Given the description of an element on the screen output the (x, y) to click on. 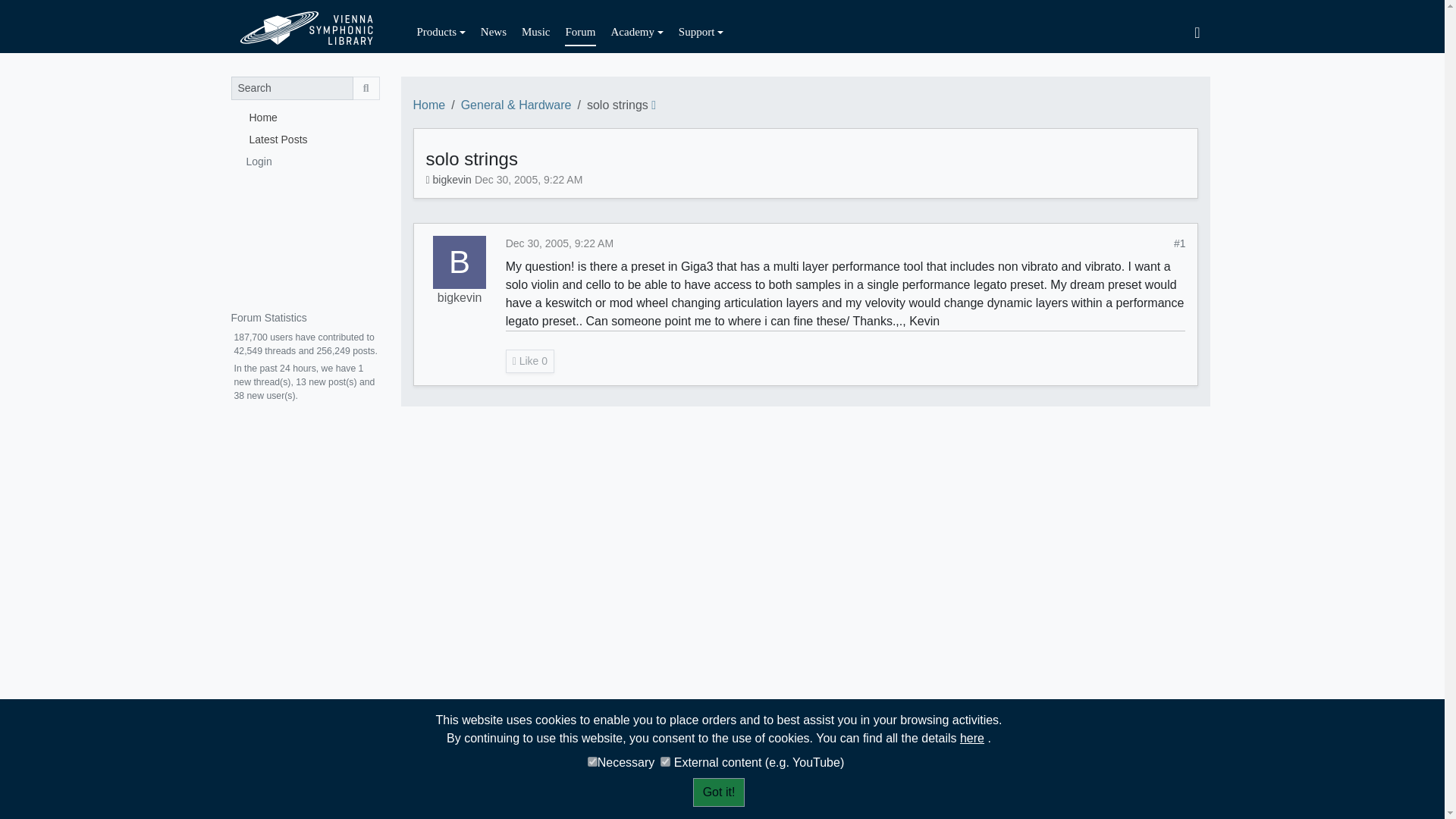
Dec 30, 2005, 9:22 AM (558, 243)
8 (665, 761)
4 (592, 761)
bigkevin (459, 262)
bigkevin (459, 298)
Dec 30, 2005, 9:22 AM (528, 179)
Products (441, 32)
bigkevin (451, 179)
Music (535, 32)
Academy (637, 32)
